Given the description of an element on the screen output the (x, y) to click on. 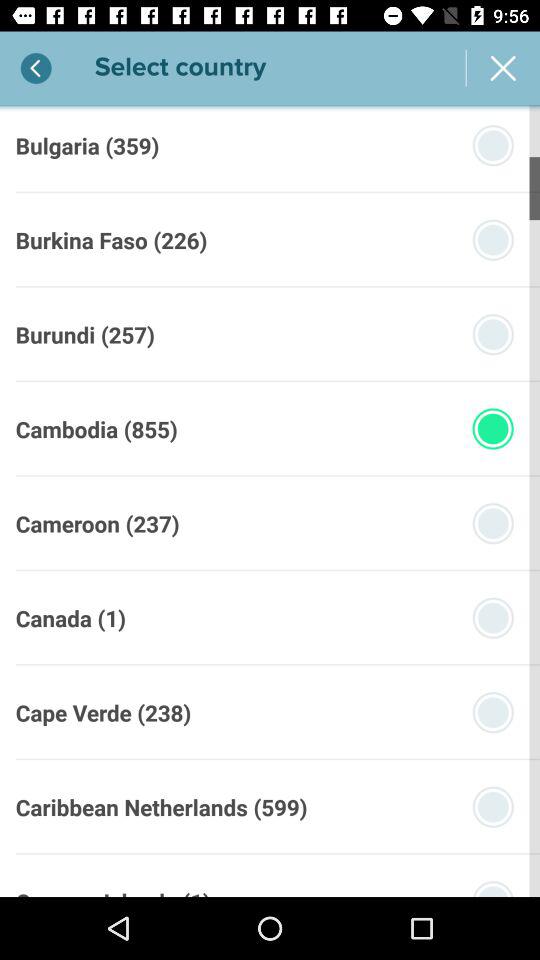
press the cape verde (238) item (103, 712)
